Given the description of an element on the screen output the (x, y) to click on. 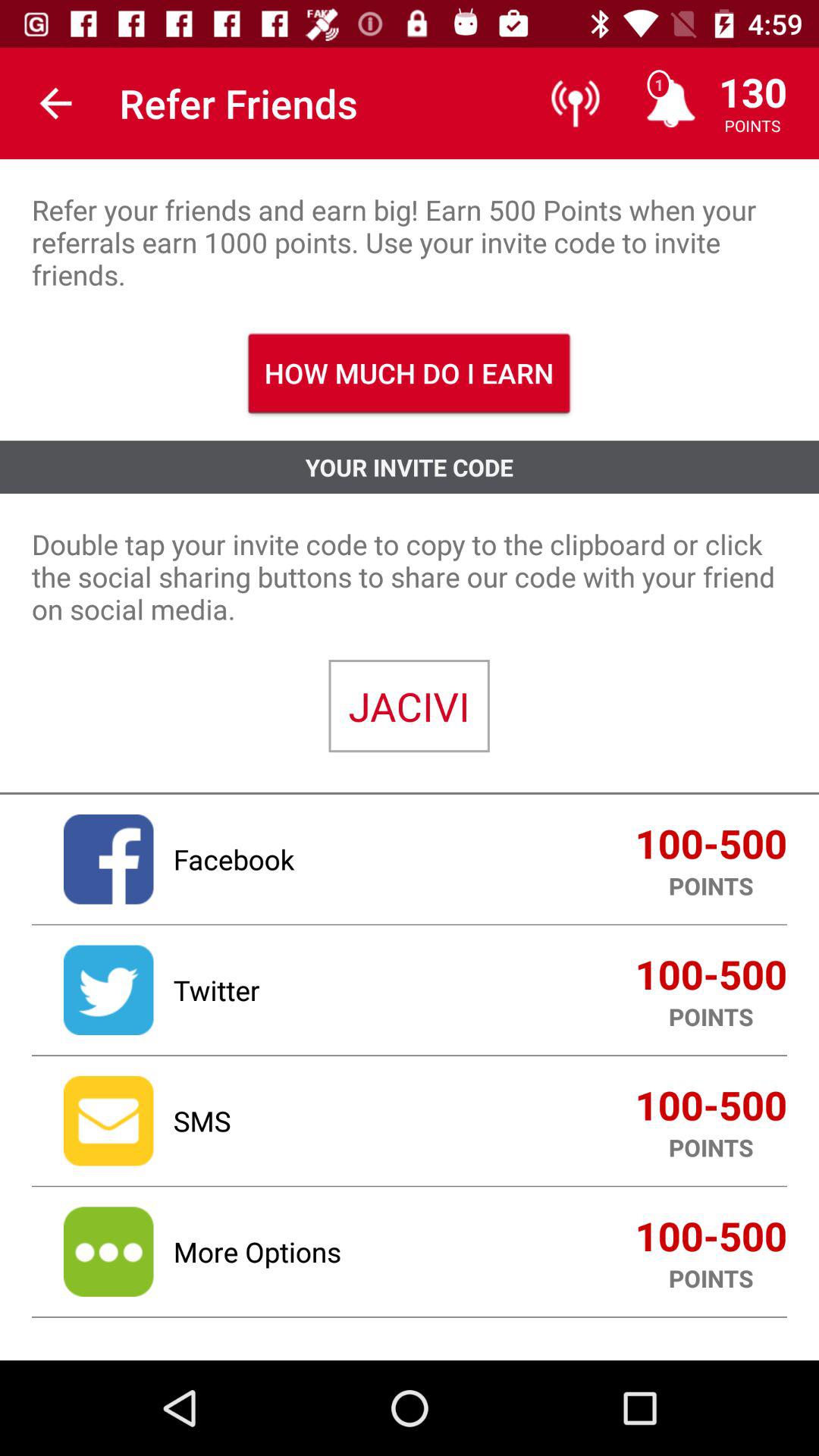
turn on the icon above the refer your friends icon (55, 103)
